Given the description of an element on the screen output the (x, y) to click on. 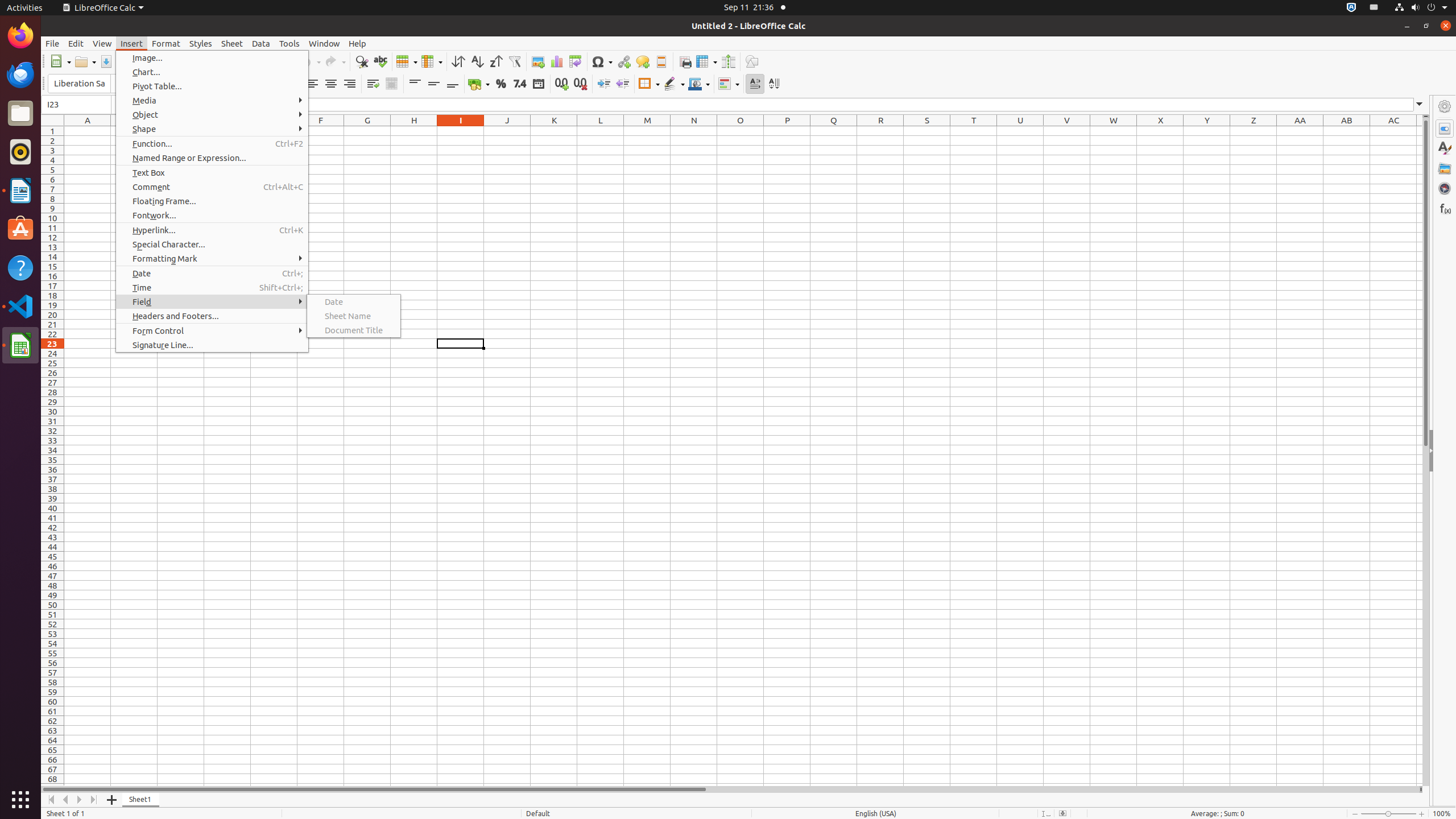
Functions Element type: radio-button (1444, 208)
Image... Element type: menu-item (212, 57)
New Element type: push-button (59, 61)
AA1 Element type: table-cell (1299, 130)
